Given the description of an element on the screen output the (x, y) to click on. 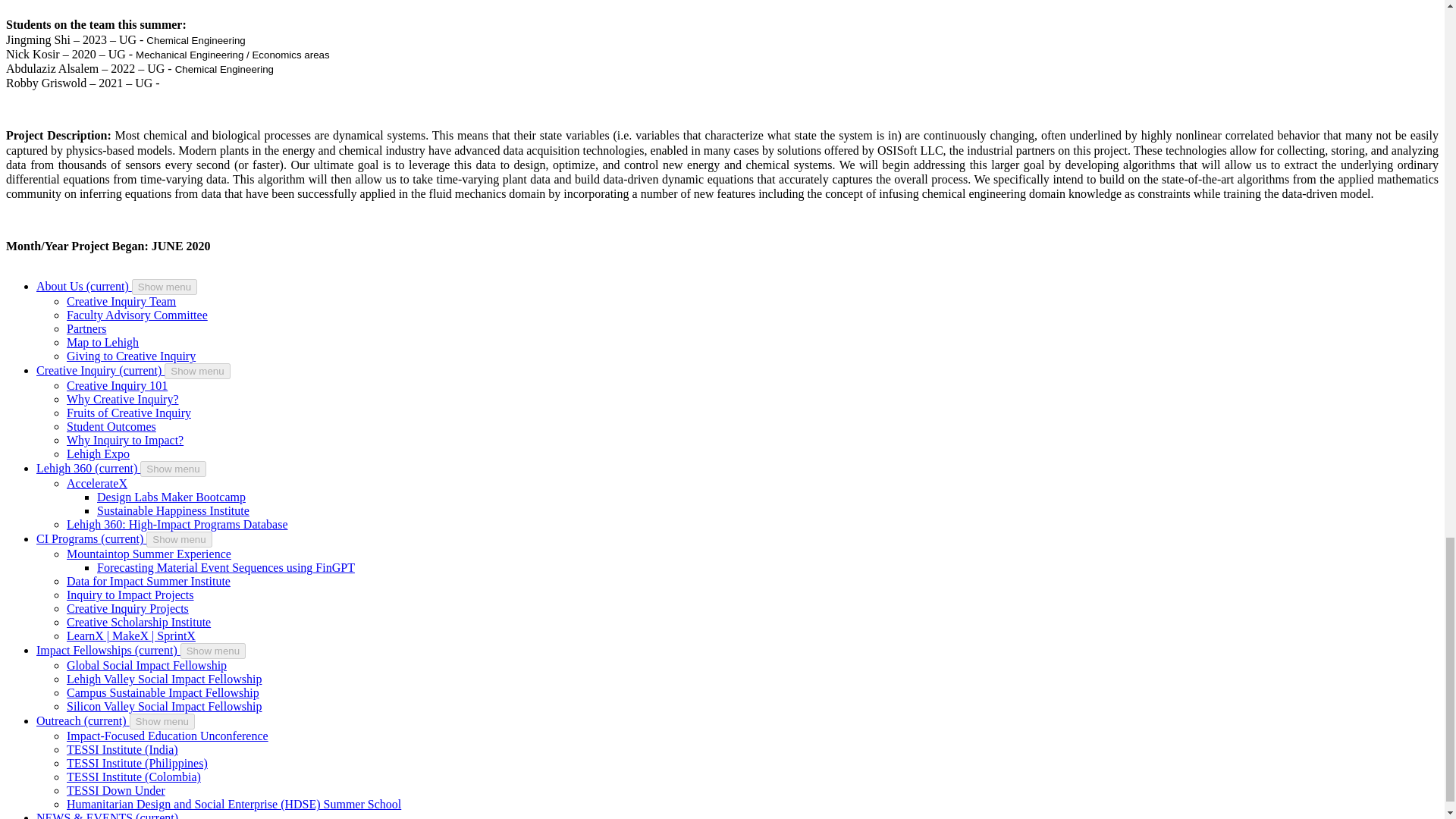
Give to Creative Inquiry programs! (130, 355)
